Given the description of an element on the screen output the (x, y) to click on. 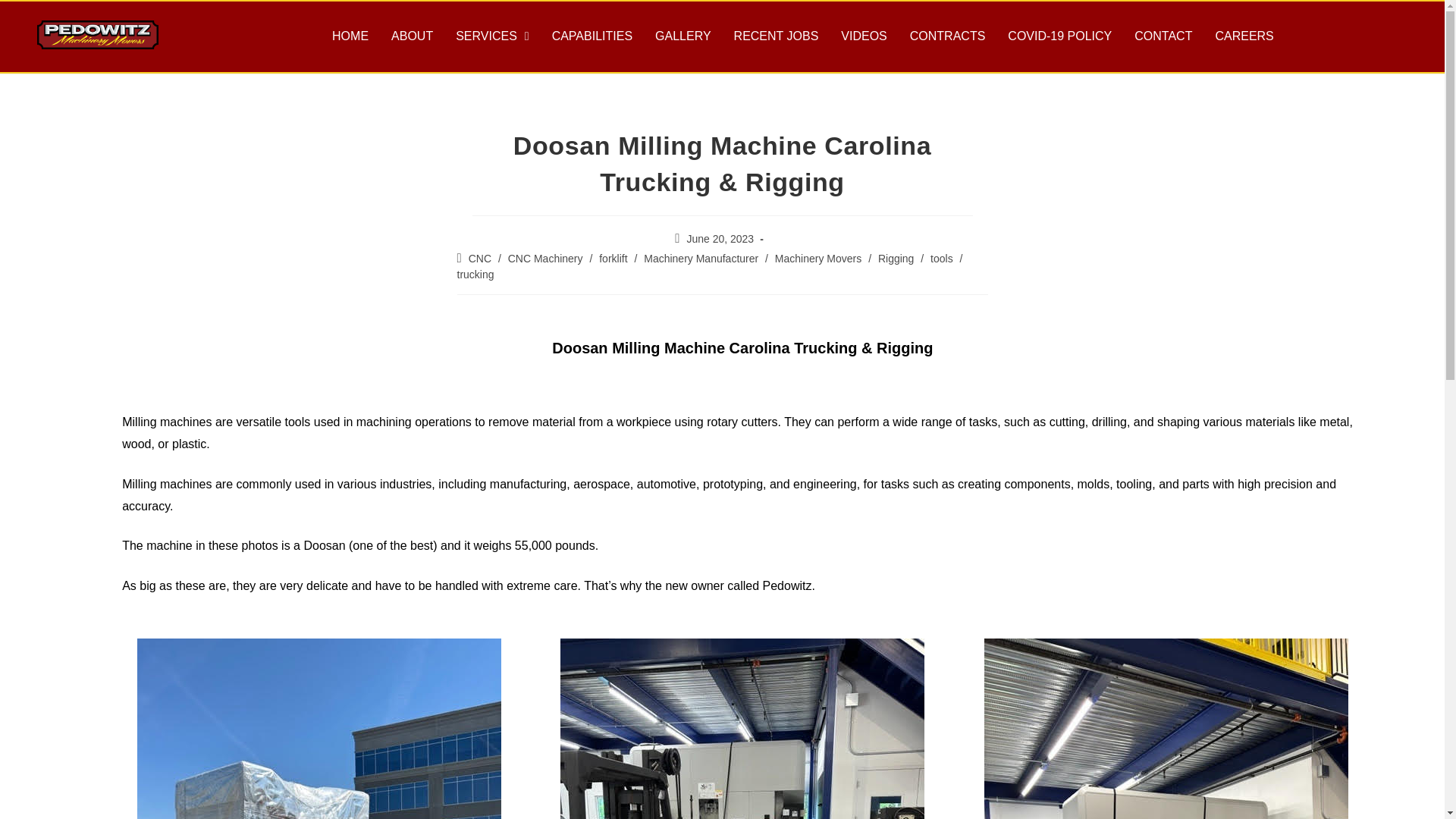
CAREERS (1244, 36)
VIDEOS (863, 36)
ABOUT (412, 36)
CONTRACTS (947, 36)
CAPABILITIES (591, 36)
HOME (350, 36)
SERVICES (492, 36)
COVID-19 POLICY (1058, 36)
RECENT JOBS (775, 36)
CONTACT (1163, 36)
